Given the description of an element on the screen output the (x, y) to click on. 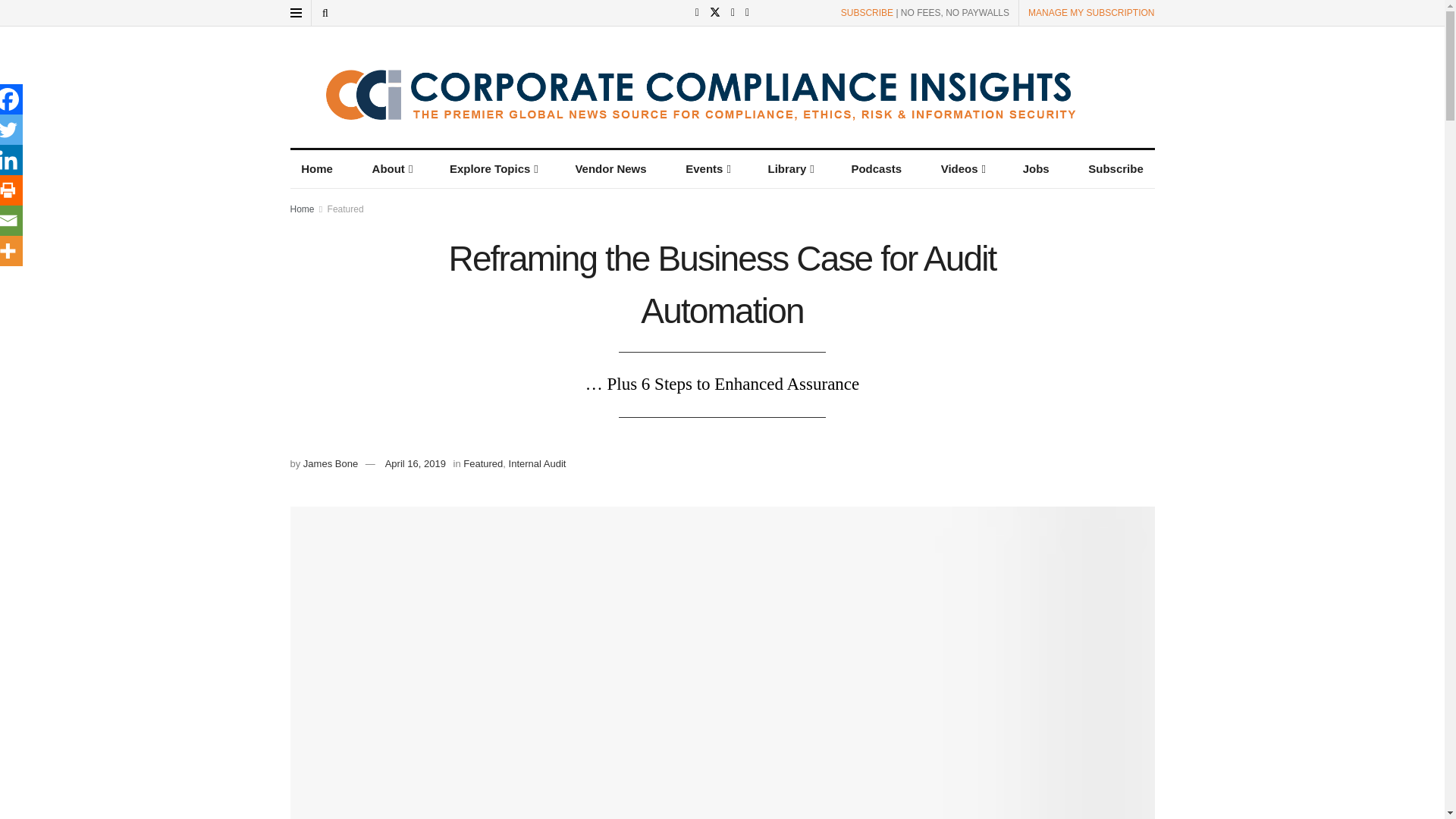
Events (706, 168)
Home (316, 168)
MANAGE MY SUBSCRIPTION (1090, 12)
Library (790, 168)
About (391, 168)
SUBSCRIBE (867, 12)
Explore Topics (492, 168)
Vendor News (611, 168)
